Given the description of an element on the screen output the (x, y) to click on. 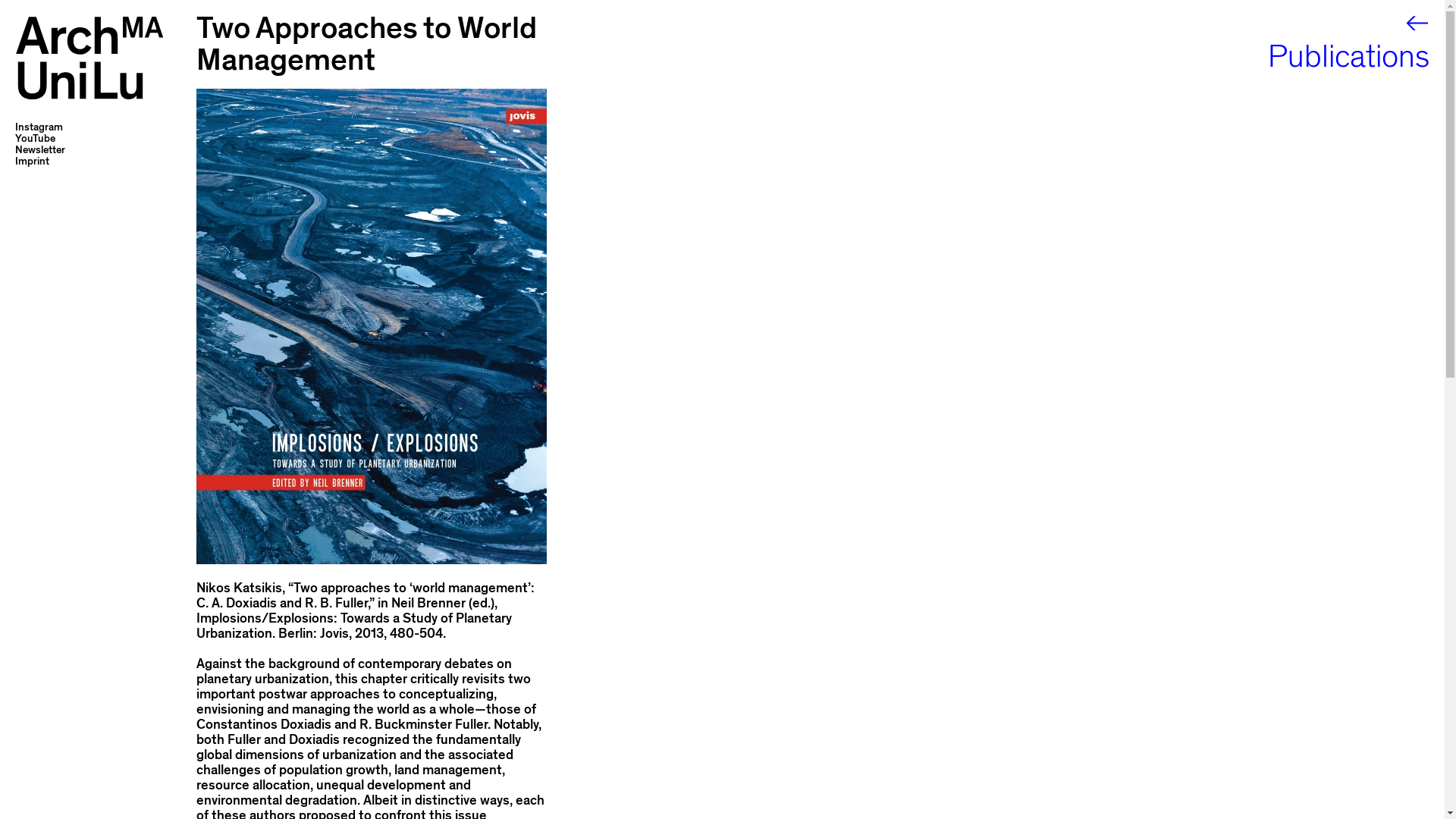
Publications (1292, 56)
Newsletter (39, 149)
Instagram (38, 126)
YouTube (34, 138)
Imprint (31, 160)
